Given the description of an element on the screen output the (x, y) to click on. 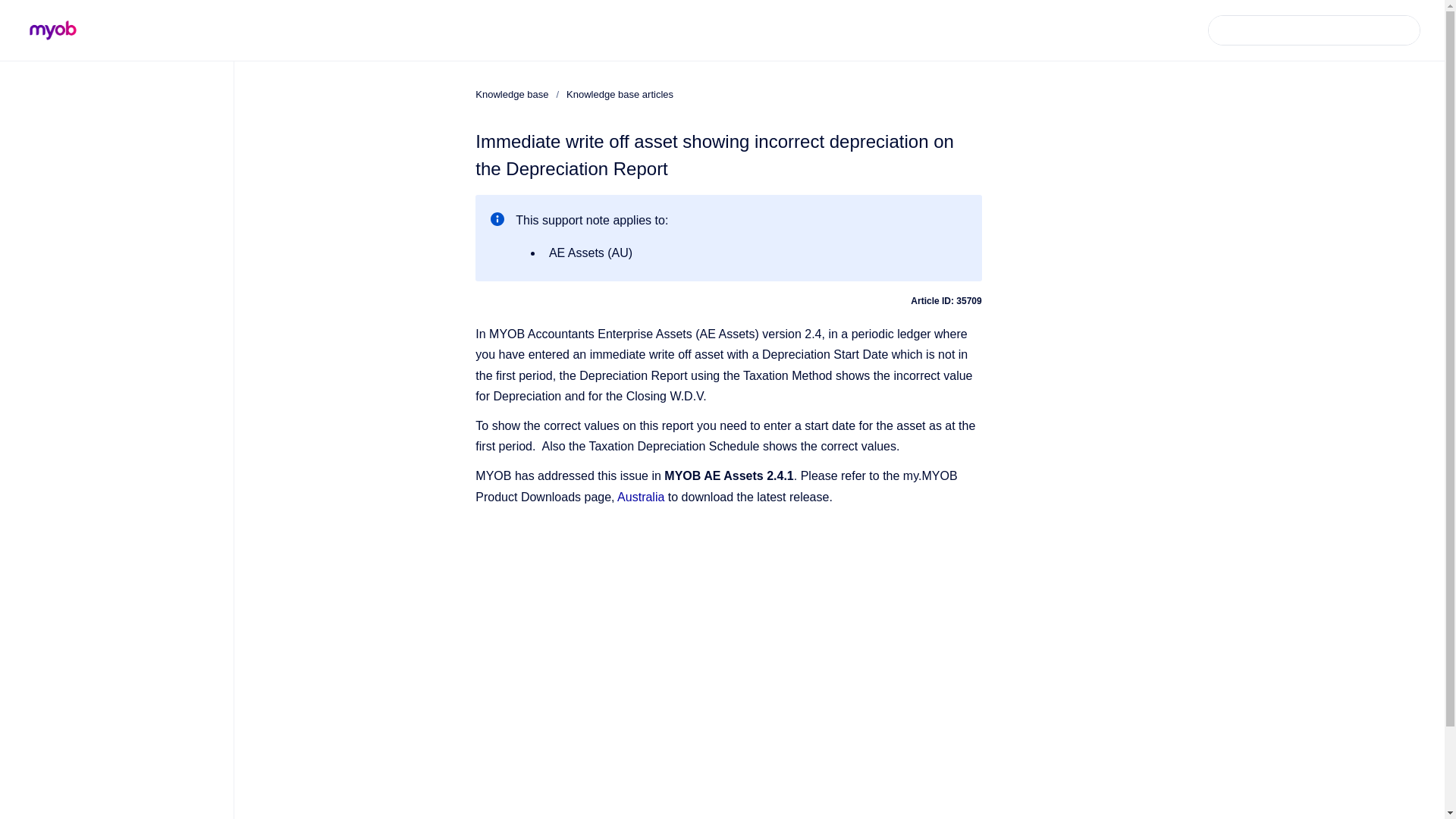
Knowledge base (512, 94)
Australia (640, 496)
Go to homepage (52, 30)
Knowledge base articles (619, 94)
